Given the description of an element on the screen output the (x, y) to click on. 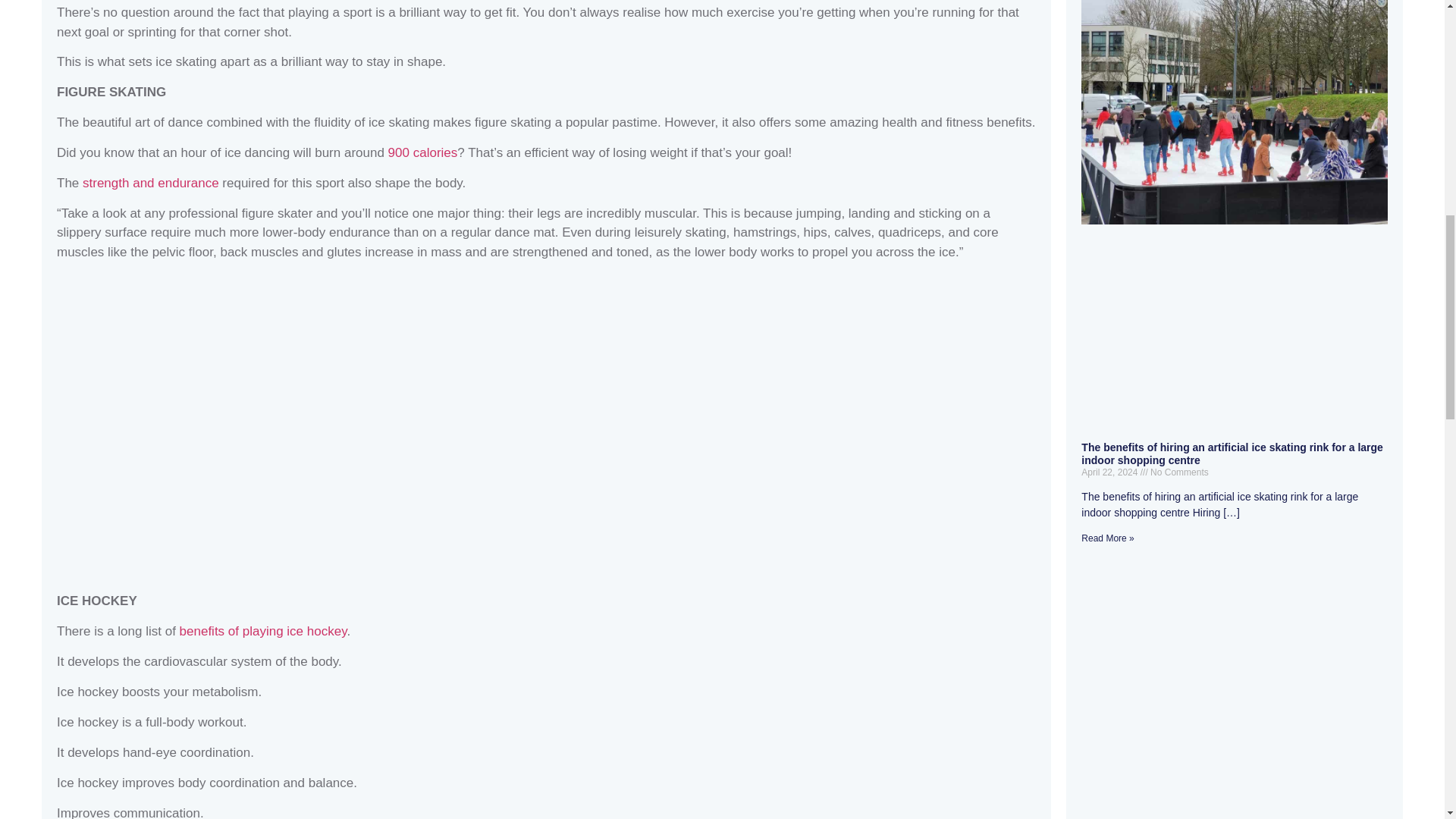
900 calories (423, 152)
strength and endurance (150, 183)
benefits of playing ice hockey (263, 631)
